Given the description of an element on the screen output the (x, y) to click on. 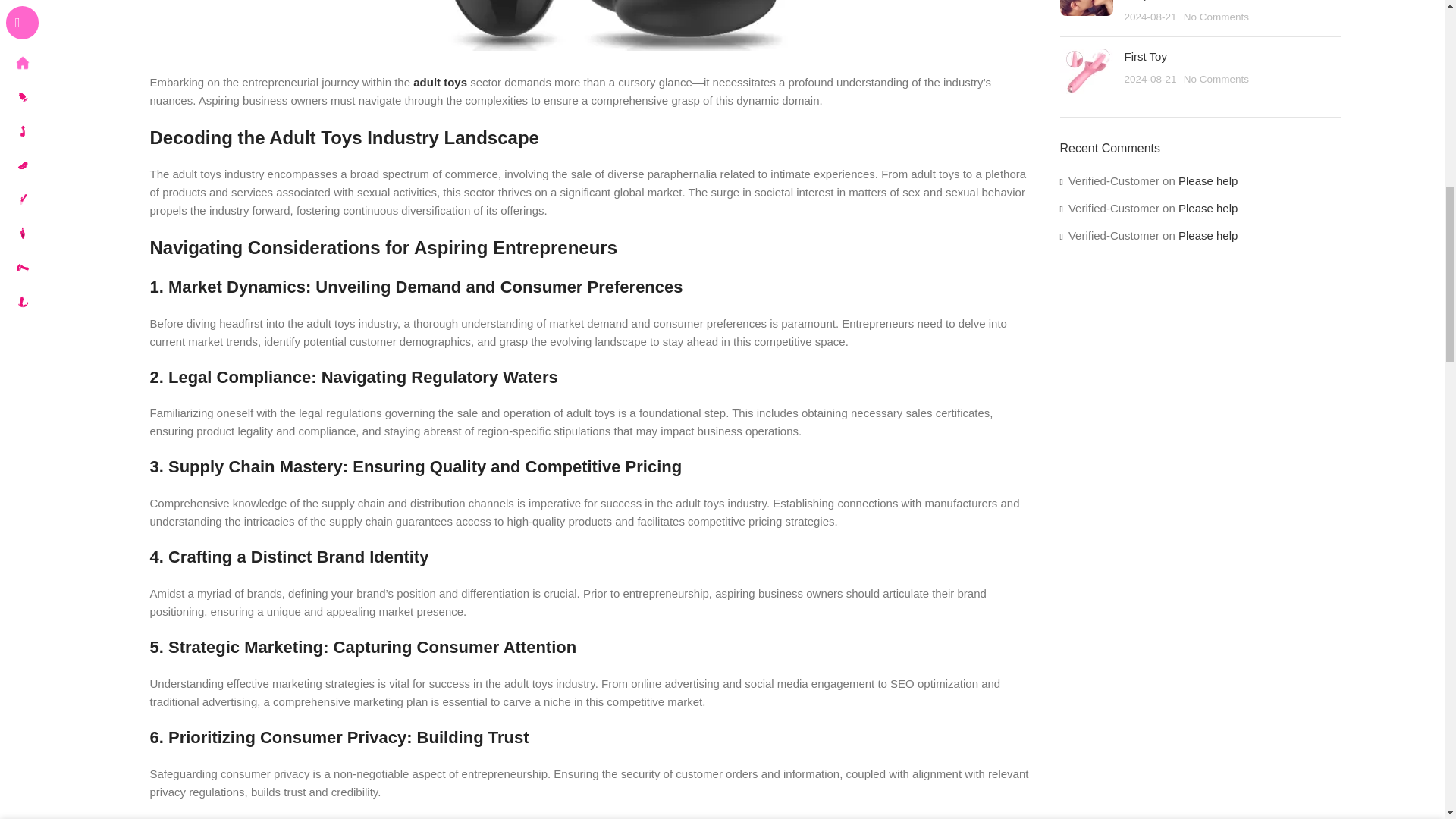
First time having sex! Check out my real story (1086, 7)
Hiding a display of sex toys and BDSM equipment (1086, 71)
